Given the description of an element on the screen output the (x, y) to click on. 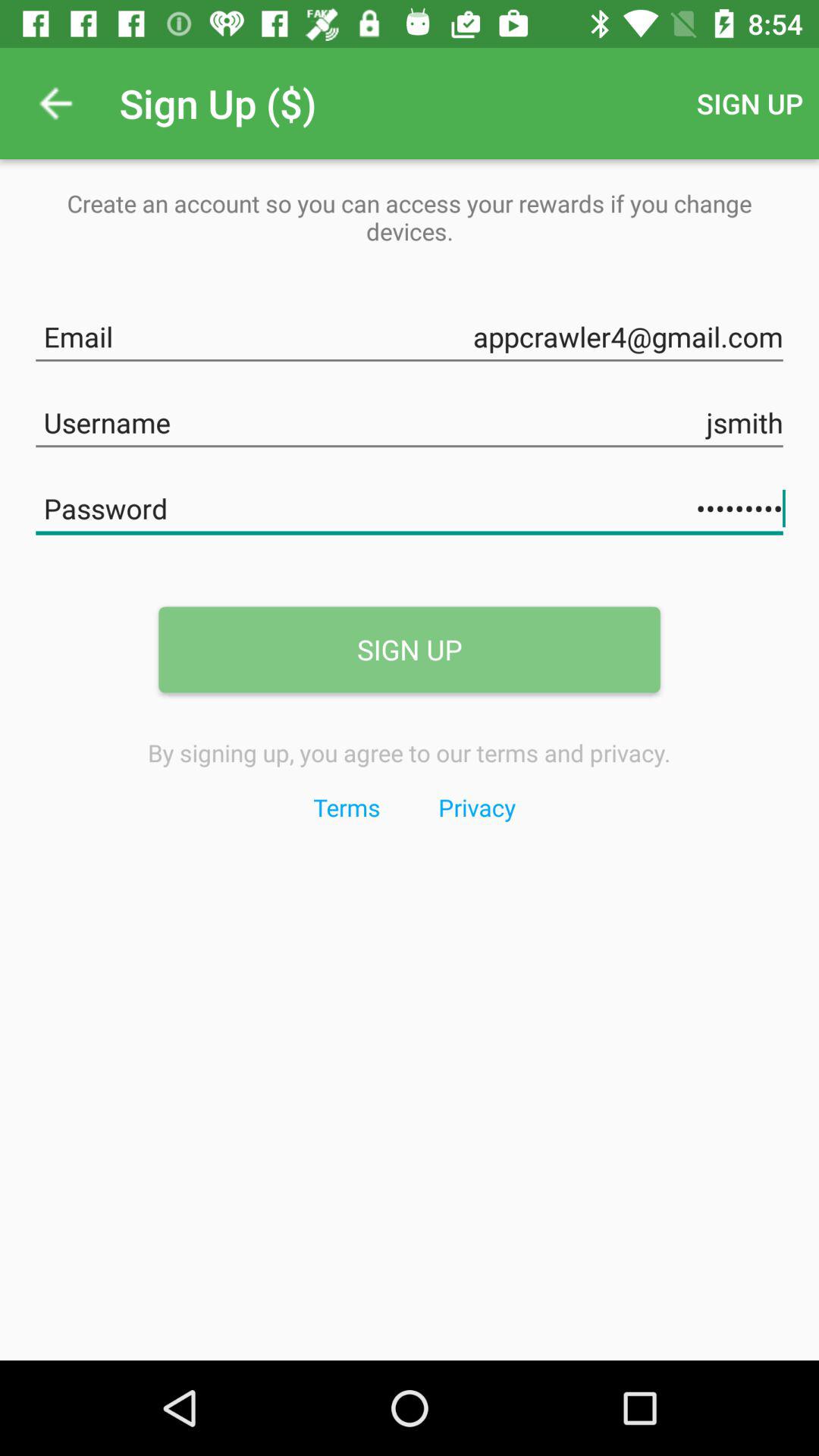
open jsmith item (409, 419)
